Given the description of an element on the screen output the (x, y) to click on. 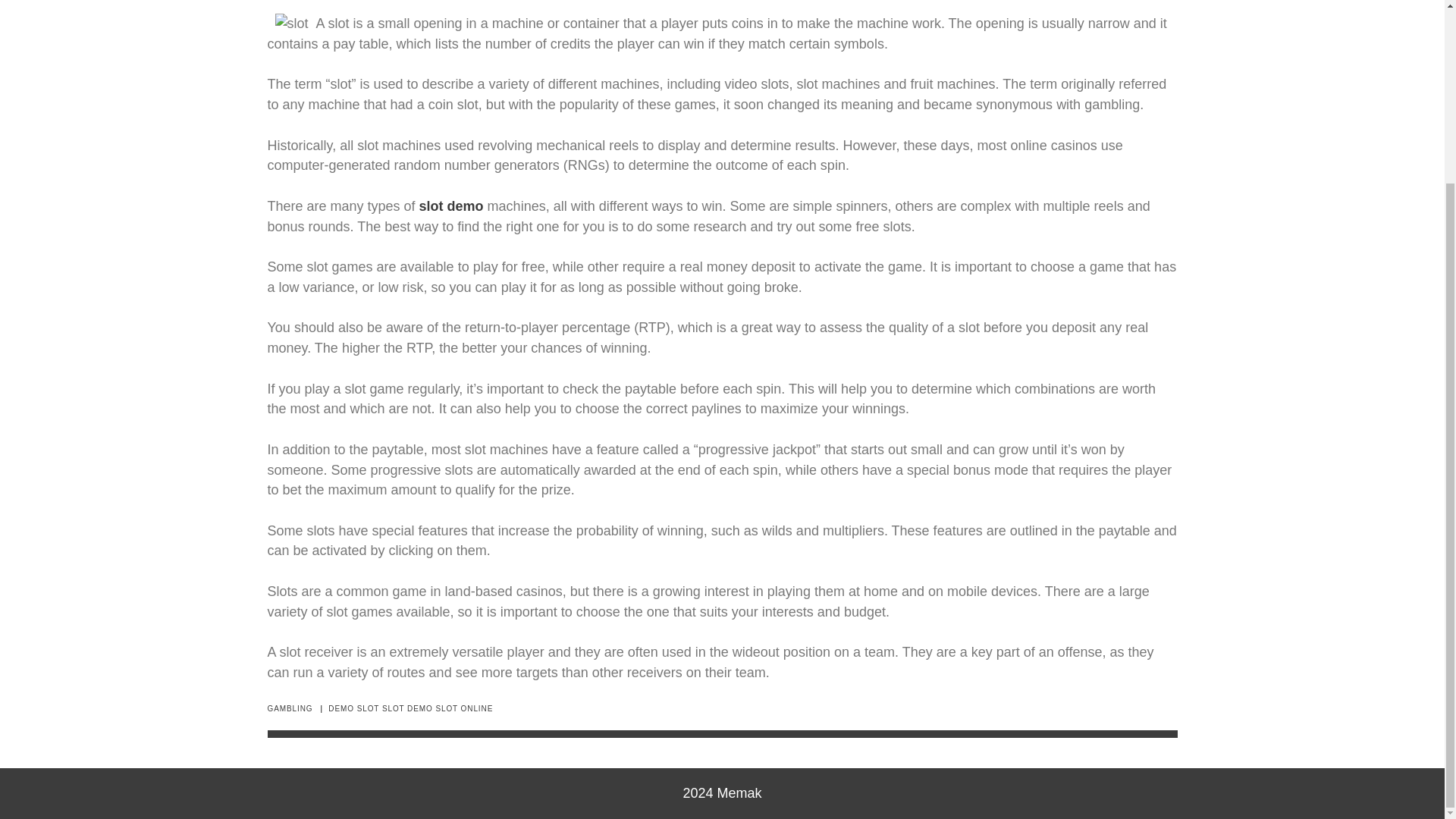
slot demo (451, 206)
DEMO SLOT (353, 708)
SLOT ONLINE (464, 708)
SLOT DEMO (406, 708)
GAMBLING (289, 708)
